Given the description of an element on the screen output the (x, y) to click on. 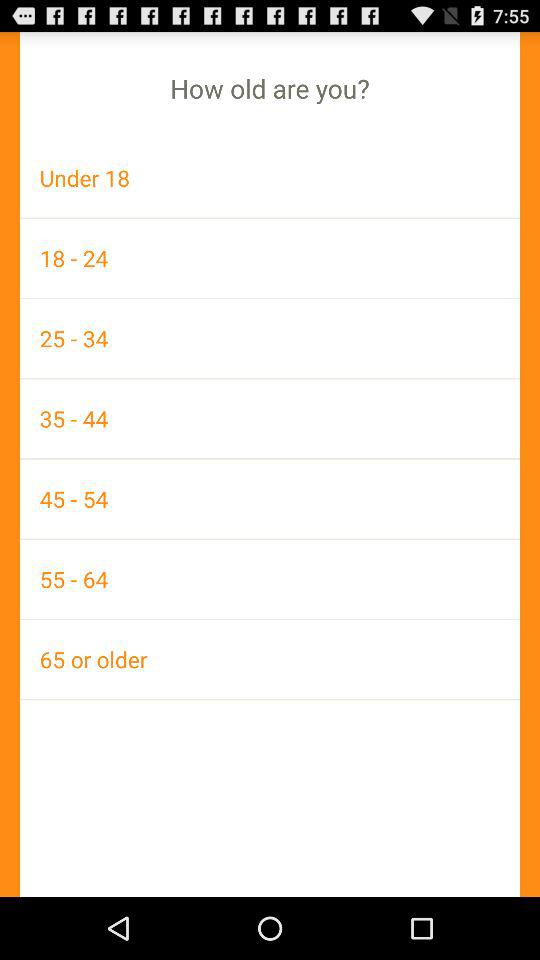
flip until the 55 - 64 app (269, 579)
